Given the description of an element on the screen output the (x, y) to click on. 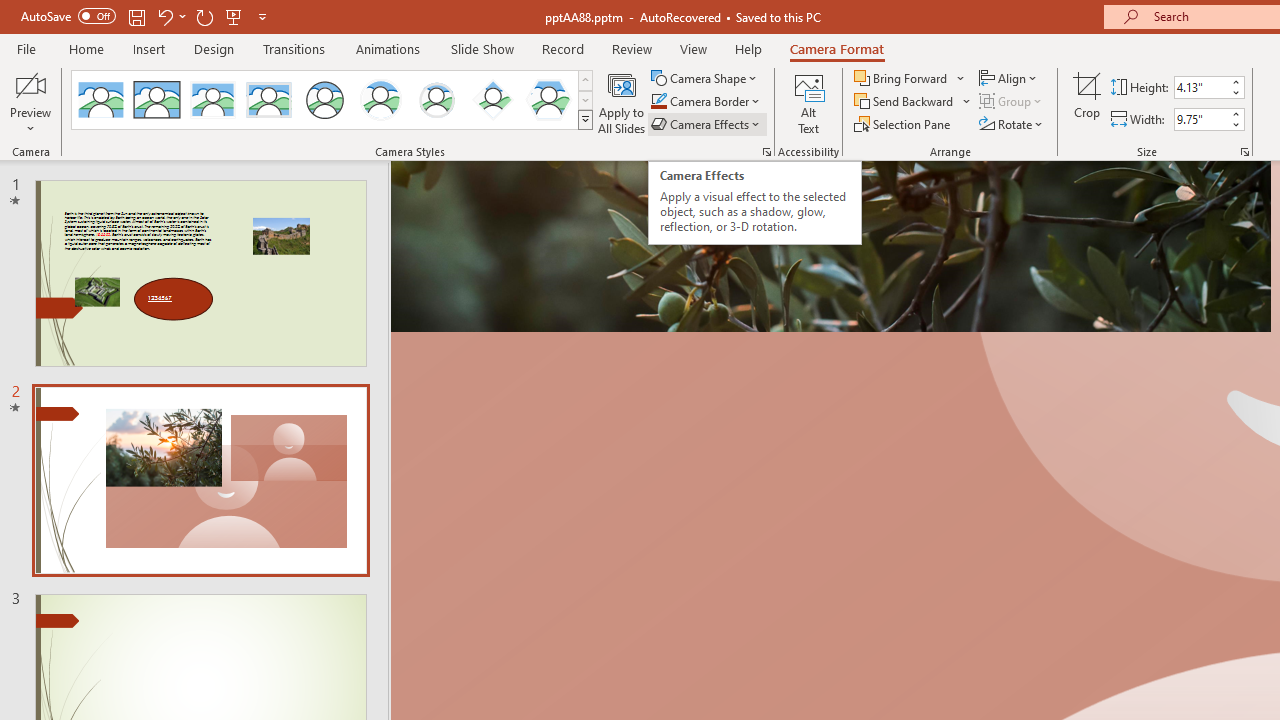
Send Backward (913, 101)
Center Shadow Rectangle (212, 100)
Format Object... (766, 151)
Camera Border Teal, Accent 1 (658, 101)
Camera Effects (706, 124)
Camera Styles (585, 120)
Center Shadow Circle (381, 100)
Enable Camera Preview (30, 84)
Soft Edge Circle (436, 100)
